Given the description of an element on the screen output the (x, y) to click on. 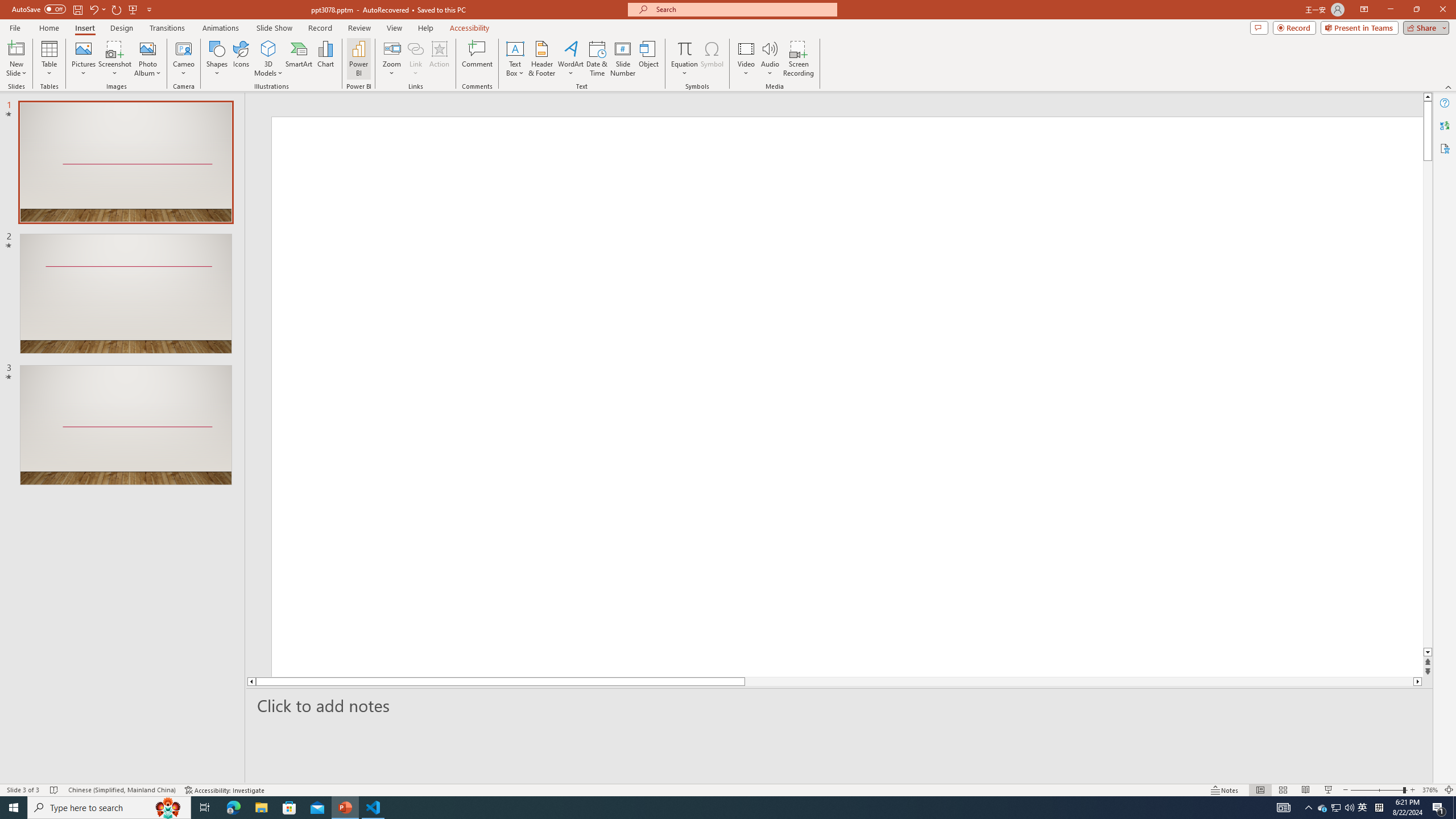
Video (745, 58)
Audio (769, 58)
SmartArt... (298, 58)
Line up (1427, 96)
Notes  (1225, 790)
Table (49, 58)
Restore Down (1416, 9)
Symbol... (711, 58)
